Given the description of an element on the screen output the (x, y) to click on. 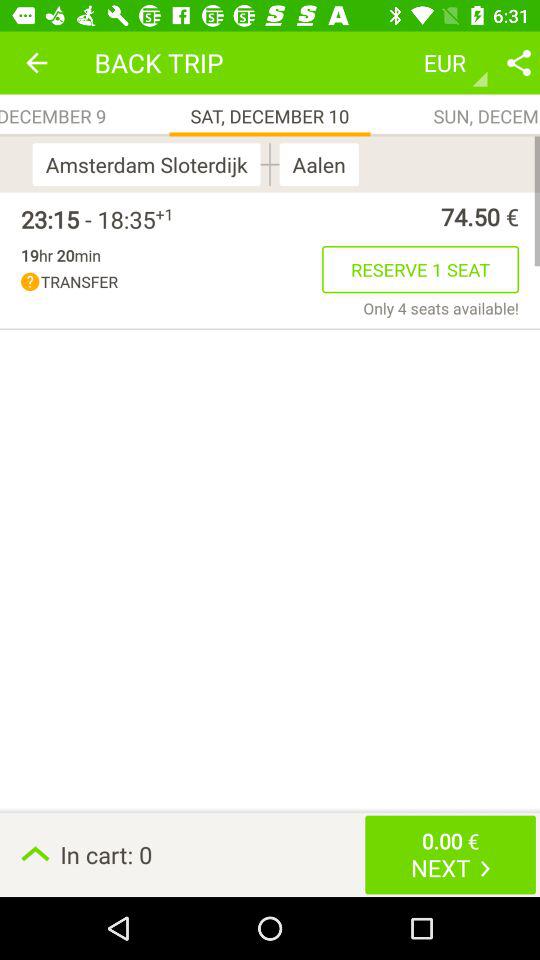
press icon to the left of the reserve 1 seat (171, 281)
